Given the description of an element on the screen output the (x, y) to click on. 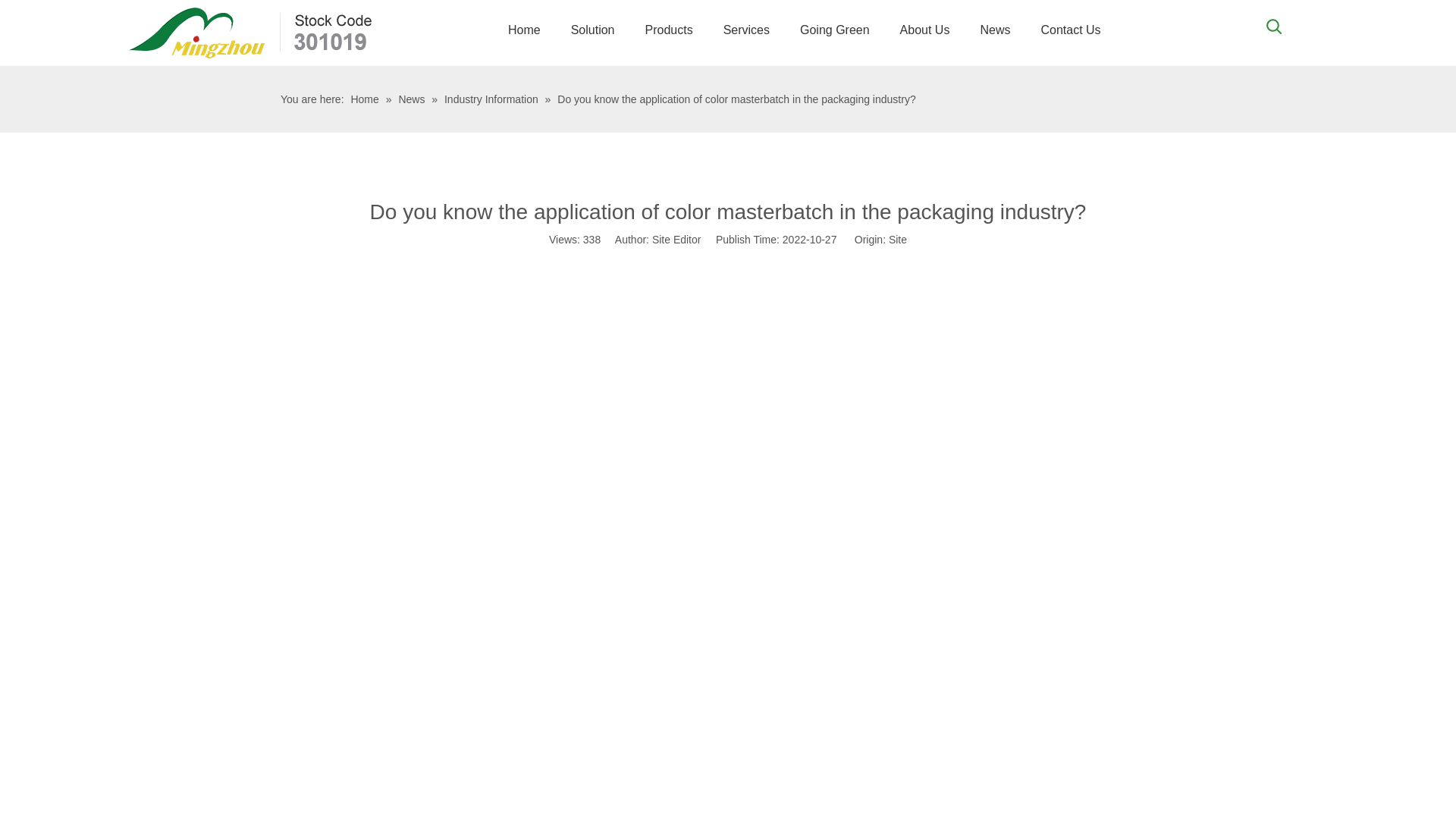
Site (897, 239)
Contact Us (1070, 30)
Going Green (834, 30)
Home (524, 30)
Services (745, 30)
Solution (593, 30)
Products (667, 30)
Home (365, 99)
News (412, 99)
About Us (925, 30)
Industry Information (492, 99)
News (994, 30)
